Given the description of an element on the screen output the (x, y) to click on. 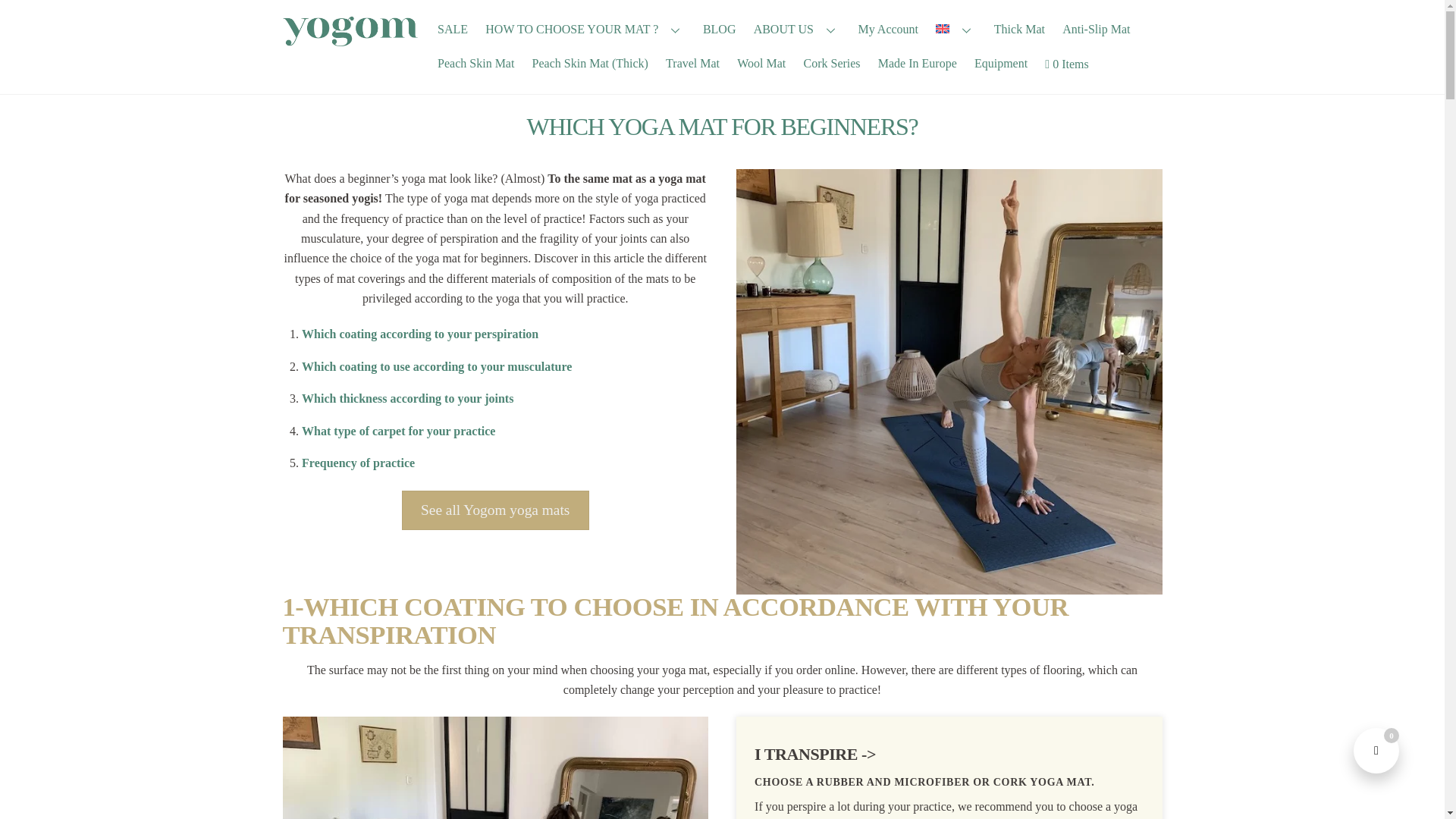
My Account (888, 29)
Made In Europe (916, 63)
ABOUT US (796, 29)
Cork Series (831, 63)
Anti-Slip Mat (1096, 29)
Wool Mat (761, 63)
WHICH YOGA MAT FOR BEGINNERS? (722, 126)
0 Items (1080, 64)
SALE (453, 29)
Peach Skin Mat (476, 63)
